Given the description of an element on the screen output the (x, y) to click on. 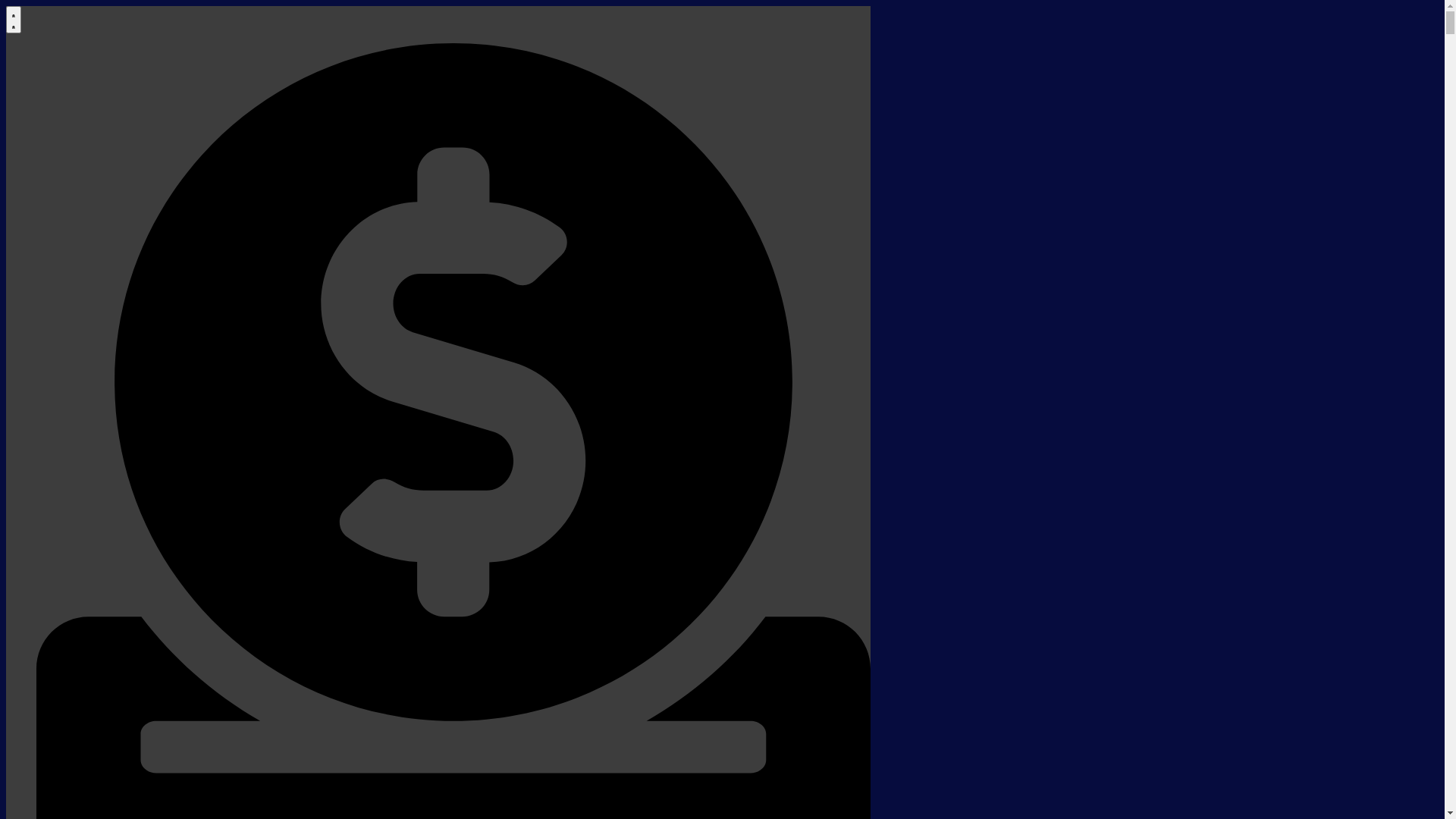
Skip to content Element type: text (5, 5)
